Given the description of an element on the screen output the (x, y) to click on. 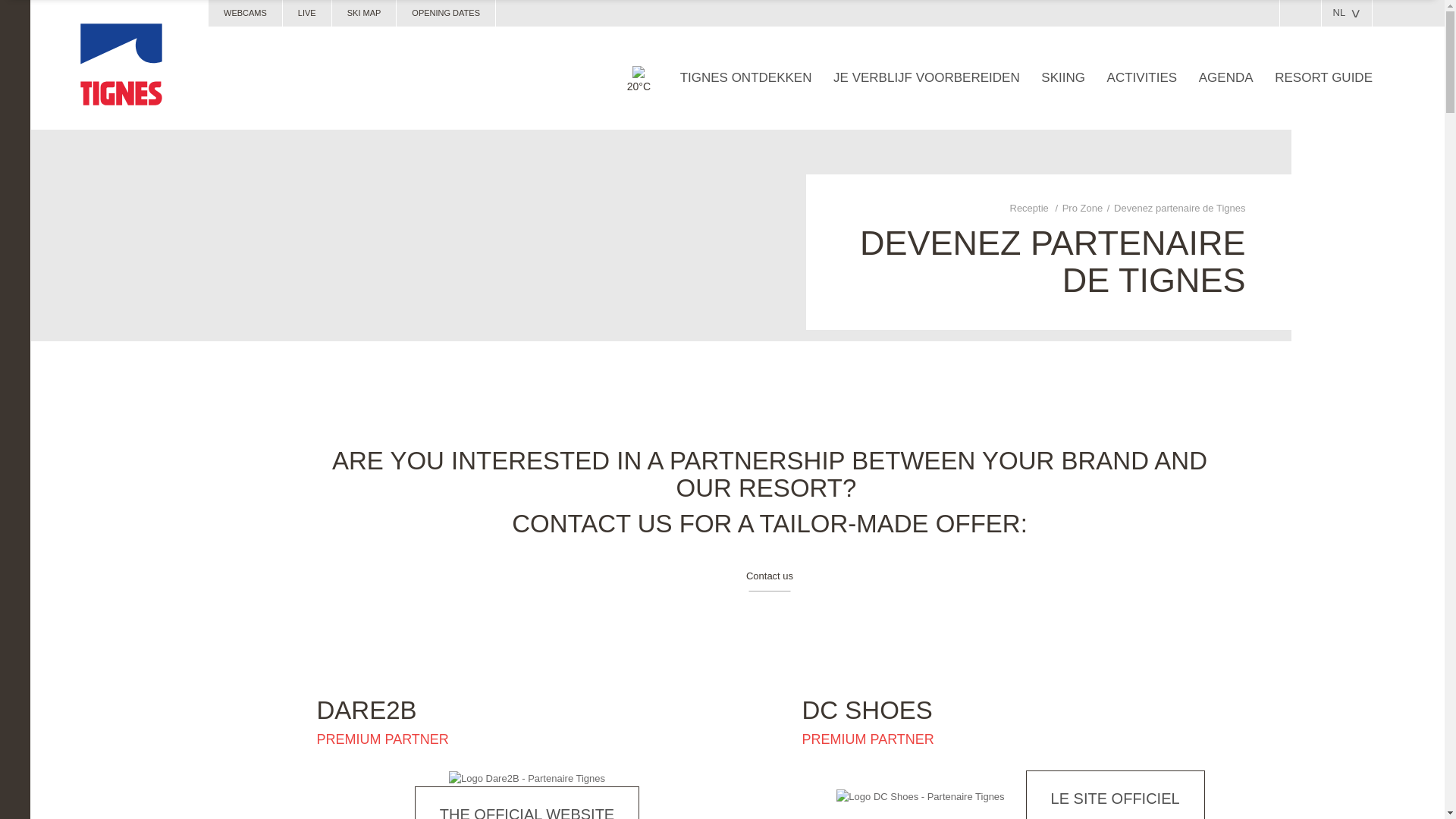
OPENING DATES (445, 13)
SKI MAP (363, 13)
WEBCAMS (245, 13)
LIVE (306, 13)
Opening dates (445, 13)
TIGNES ONTDEKKEN (745, 77)
